Given the description of an element on the screen output the (x, y) to click on. 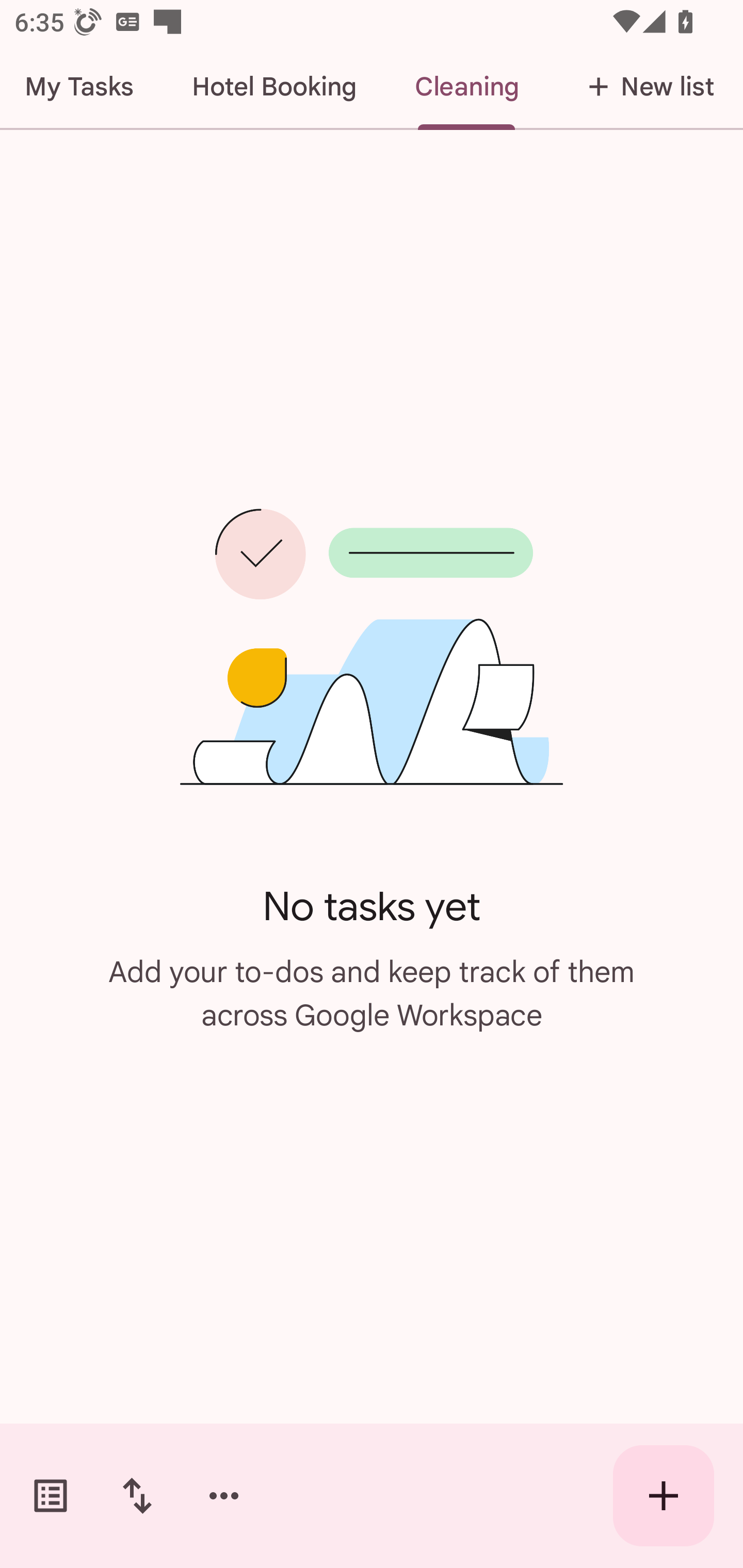
My Tasks (81, 86)
Hotel Booking (273, 86)
New list (645, 86)
Switch task lists (50, 1495)
Create new task (663, 1495)
Change sort order (136, 1495)
More options (223, 1495)
